Given the description of an element on the screen output the (x, y) to click on. 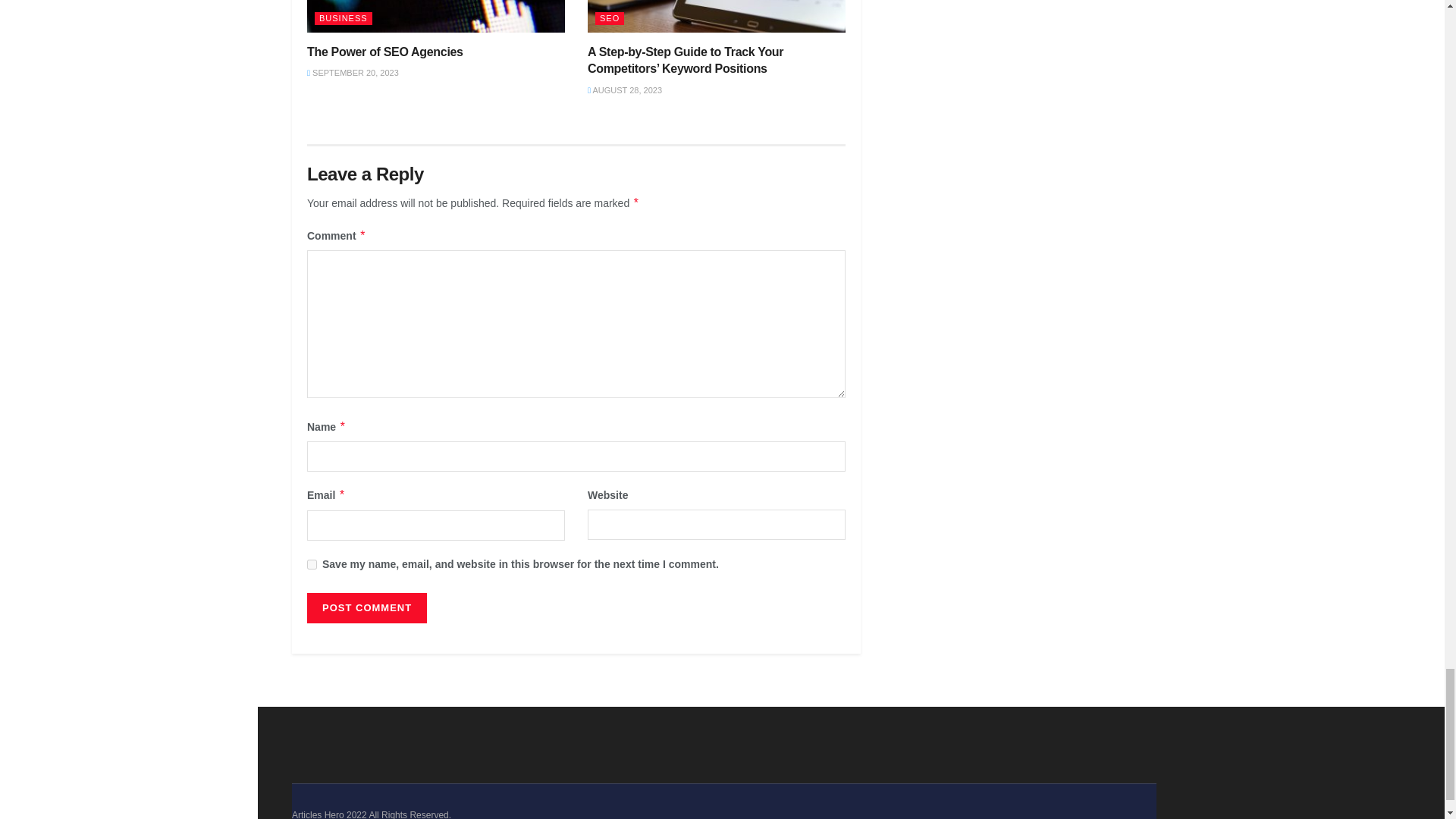
Post Comment (366, 607)
yes (312, 564)
